Given the description of an element on the screen output the (x, y) to click on. 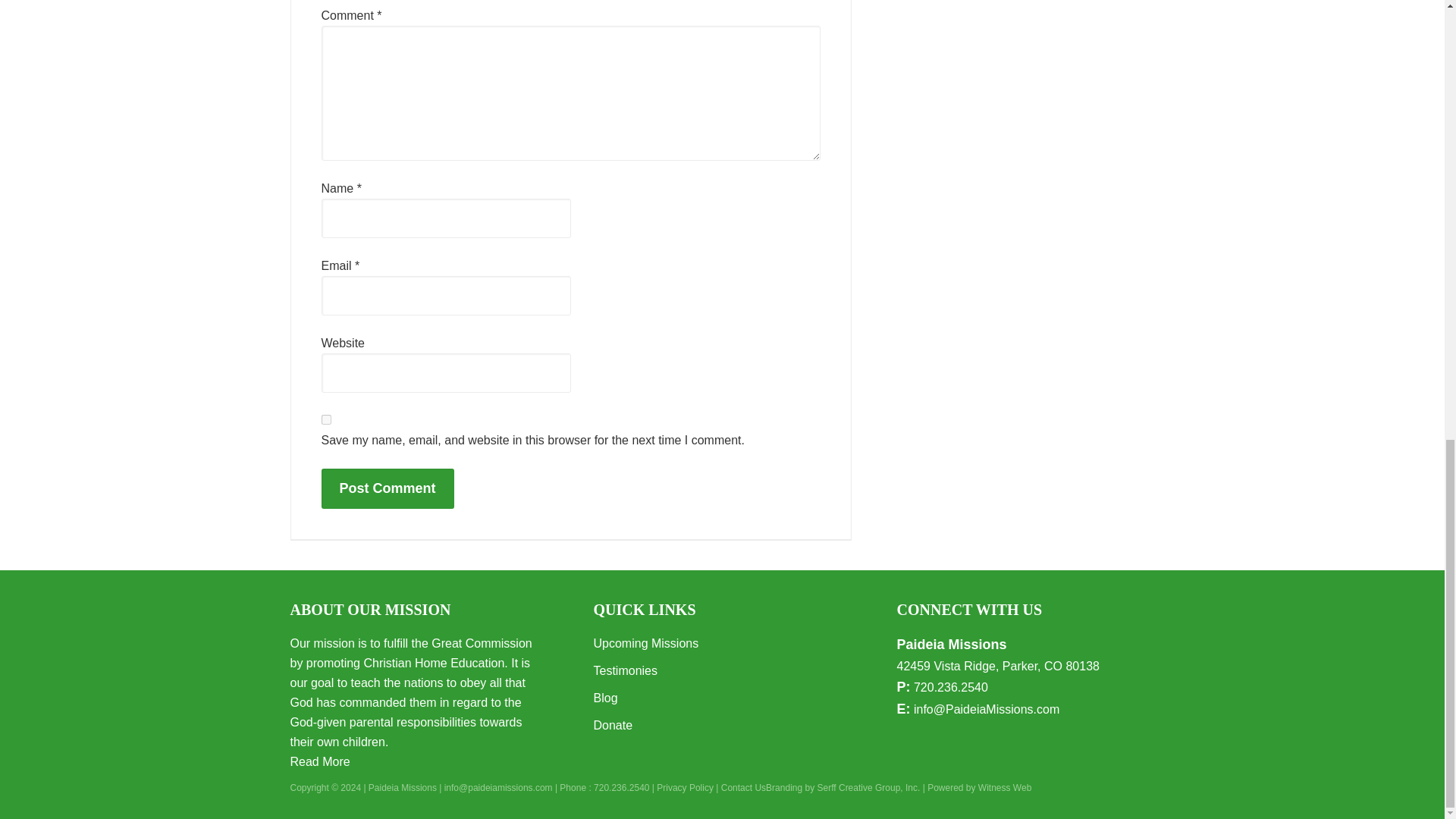
Testimonies (624, 670)
Serff Creative Group, Inc. (868, 787)
Privacy Policy (684, 787)
Donate (611, 725)
Upcoming Missions (645, 643)
Blog (604, 697)
Contact Us (742, 787)
Post Comment (387, 488)
Post Comment (387, 488)
yes (326, 419)
